Given the description of an element on the screen output the (x, y) to click on. 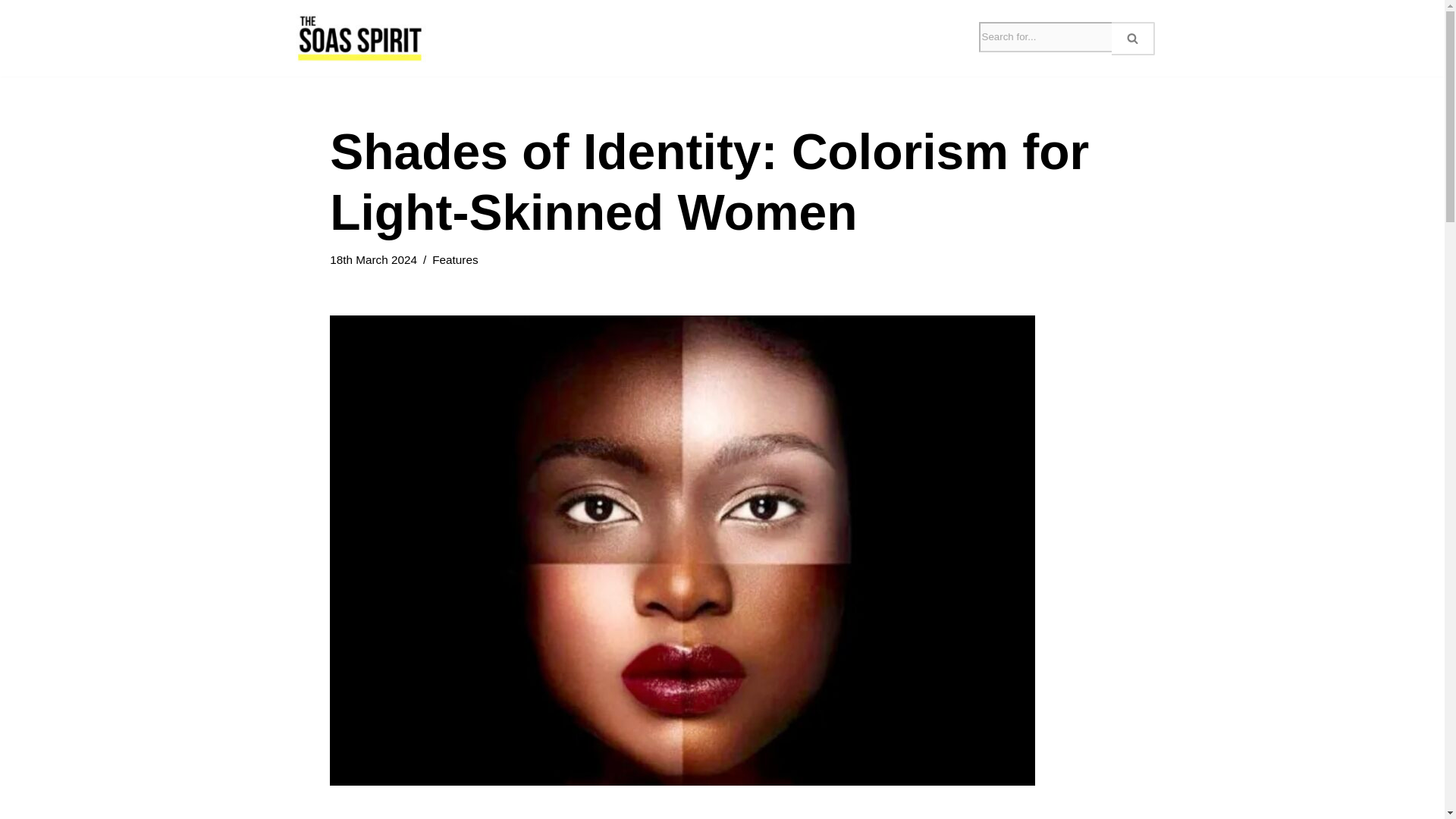
Skip to content (11, 31)
Features (454, 259)
